Given the description of an element on the screen output the (x, y) to click on. 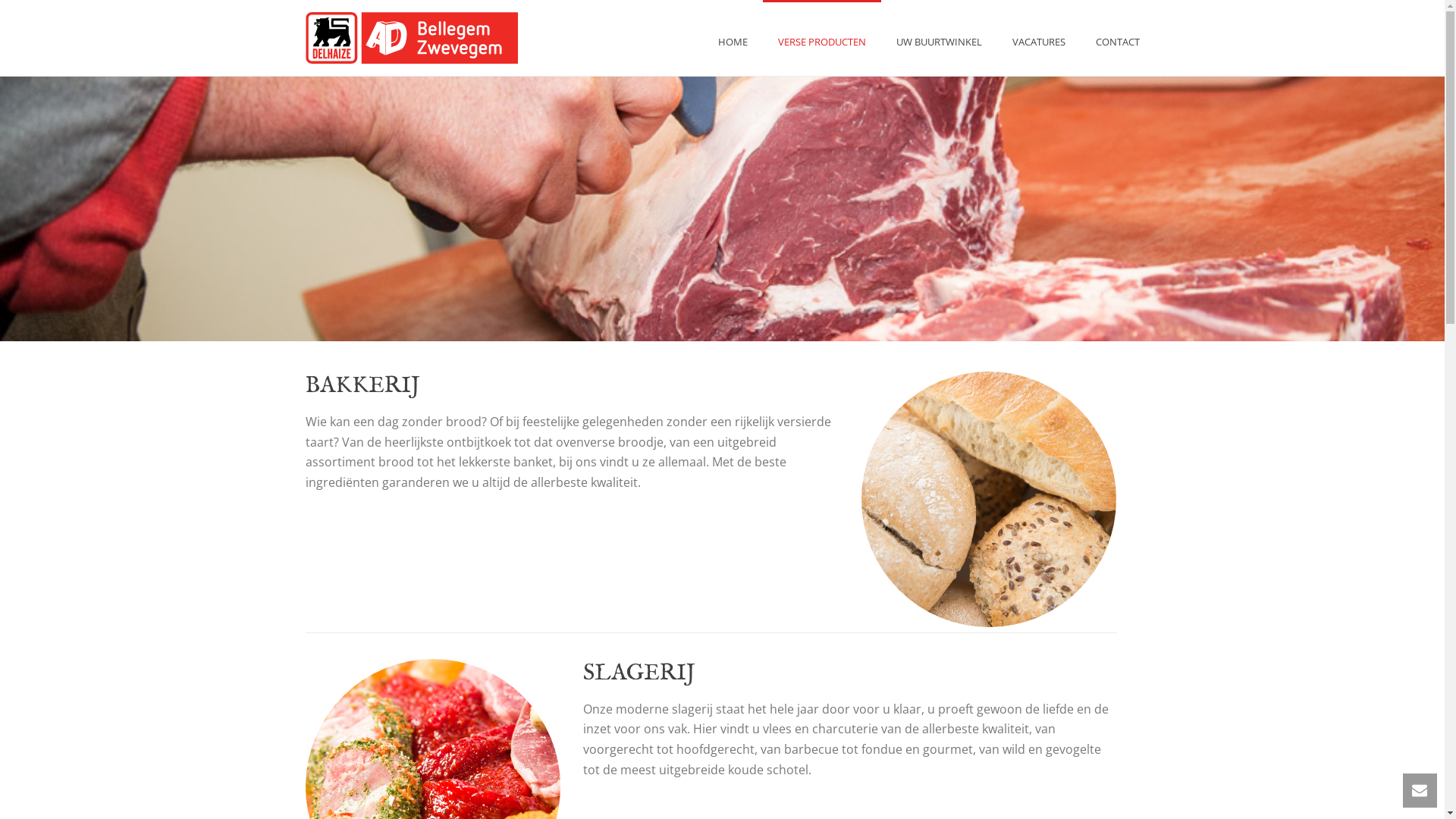
UW BUURTWINKEL Element type: text (939, 37)
VERSE PRODUCTEN Element type: text (821, 37)
VACATURES Element type: text (1037, 37)
CONTACT Element type: text (1116, 37)
uw buurtwinkel Element type: hover (410, 37)
HOME Element type: text (732, 37)
